Given the description of an element on the screen output the (x, y) to click on. 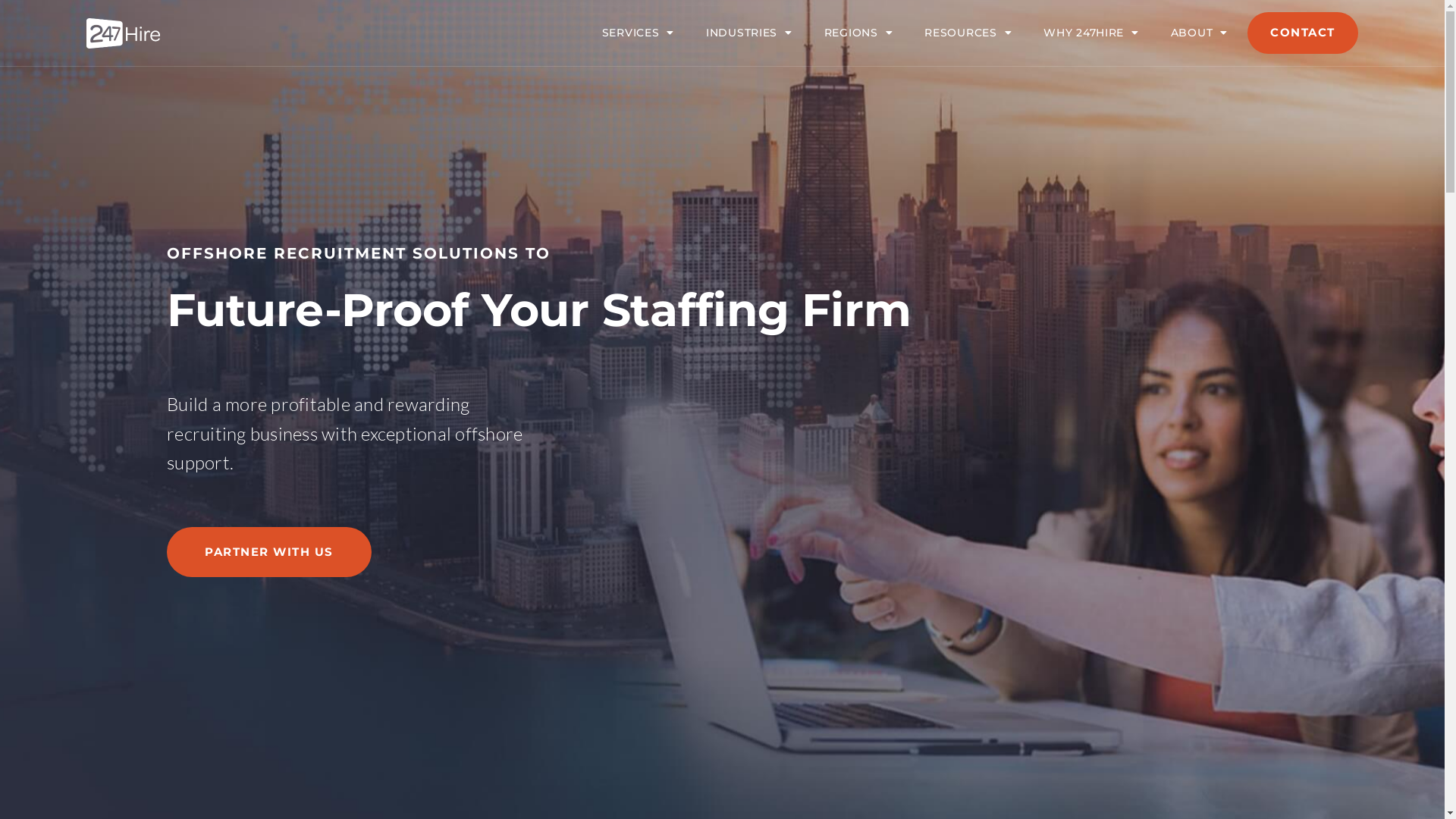
ABOUT Element type: text (1199, 32)
CONTACT Element type: text (1302, 32)
INDUSTRIES Element type: text (749, 32)
WHY 247HIRE Element type: text (1090, 32)
PARTNER WITH US Element type: text (268, 552)
REGIONS Element type: text (858, 32)
SERVICES Element type: text (637, 32)
RESOURCES Element type: text (967, 32)
